Given the description of an element on the screen output the (x, y) to click on. 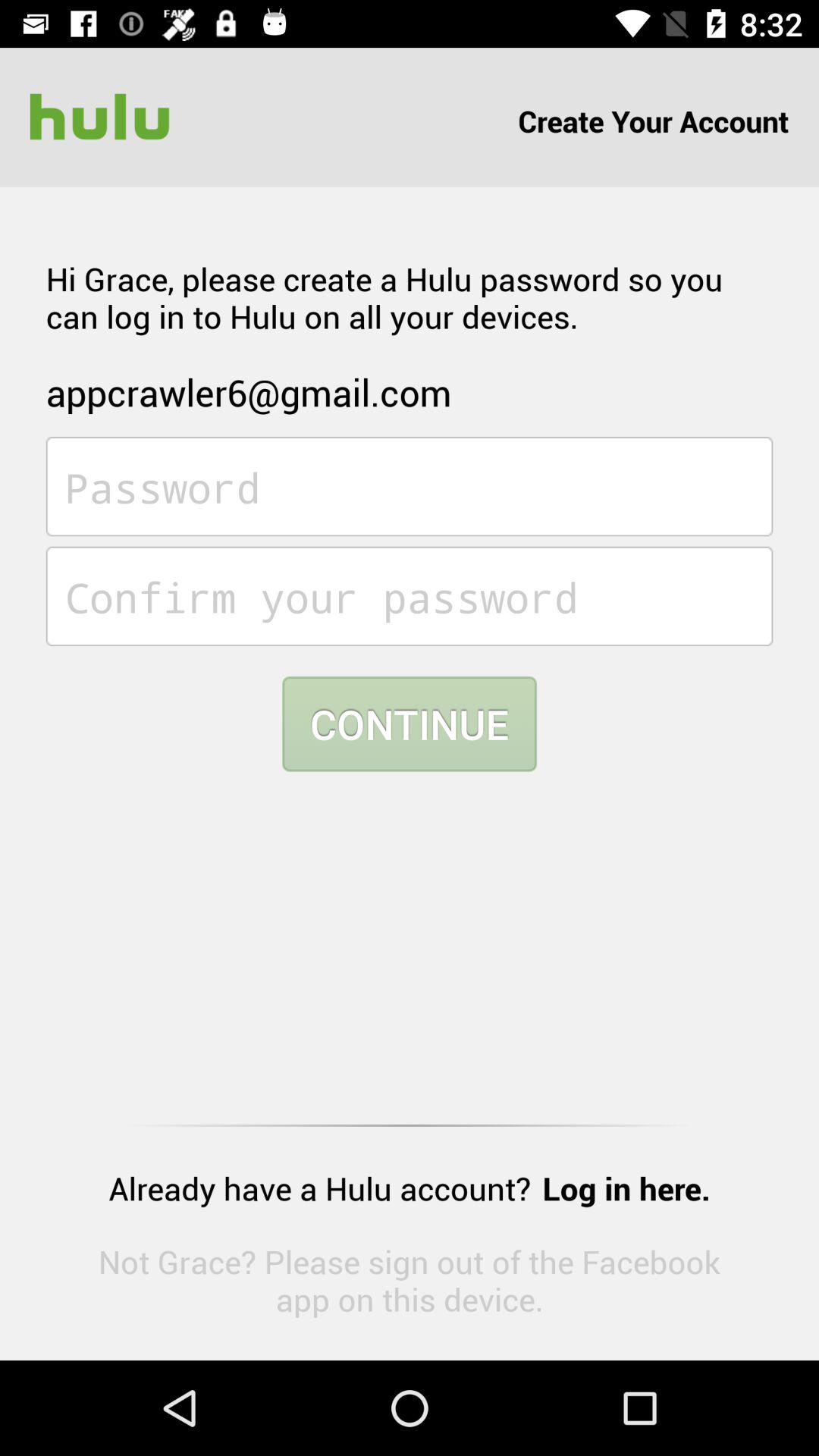
flip until the continue (409, 723)
